Given the description of an element on the screen output the (x, y) to click on. 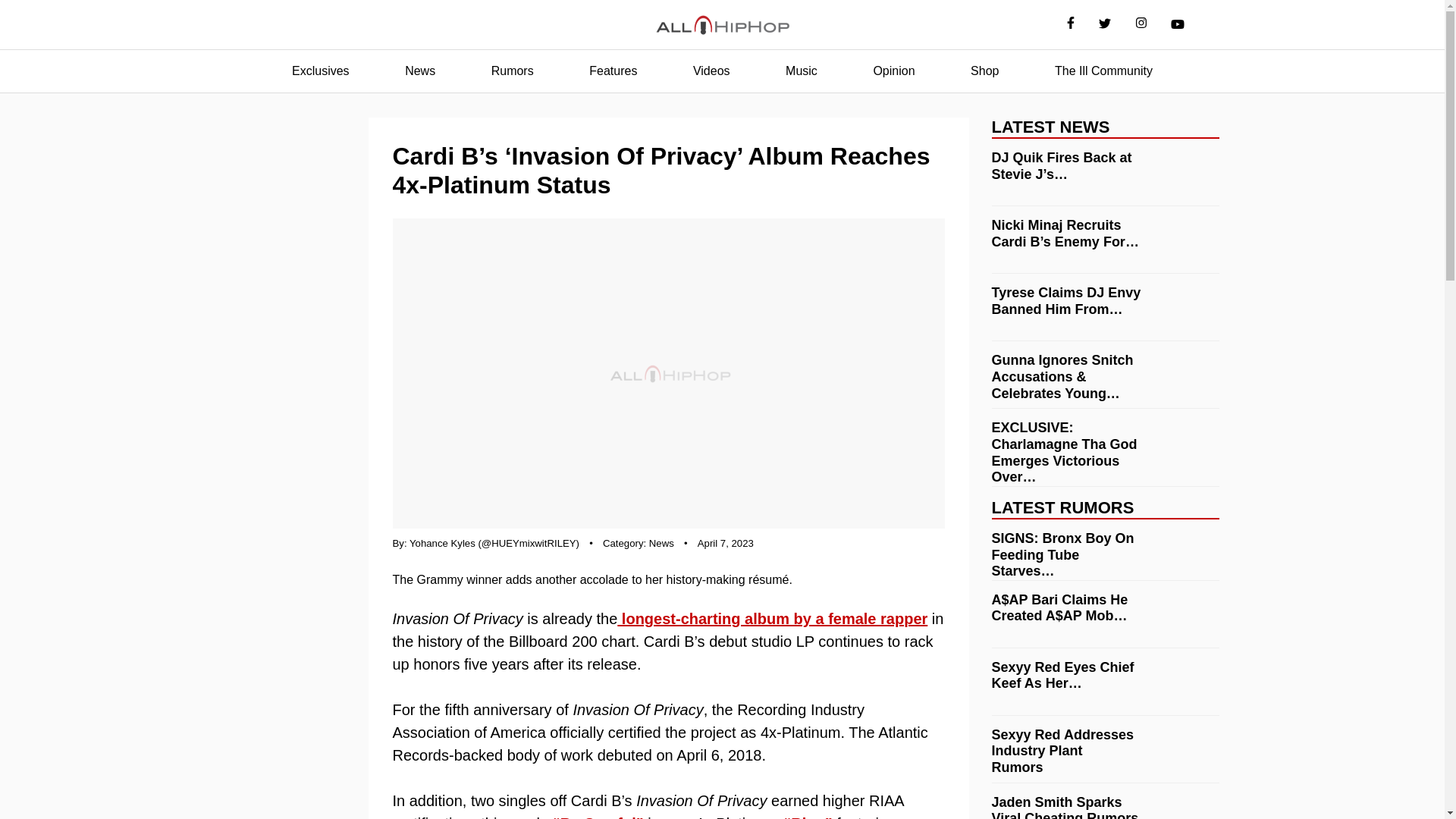
The Ill Community (1103, 70)
News (419, 70)
Shop (984, 70)
April 7, 2023 (725, 542)
Features (612, 70)
Rumors (512, 70)
Music (801, 70)
Videos (711, 70)
Exclusives (320, 70)
Opinion (893, 70)
